Given the description of an element on the screen output the (x, y) to click on. 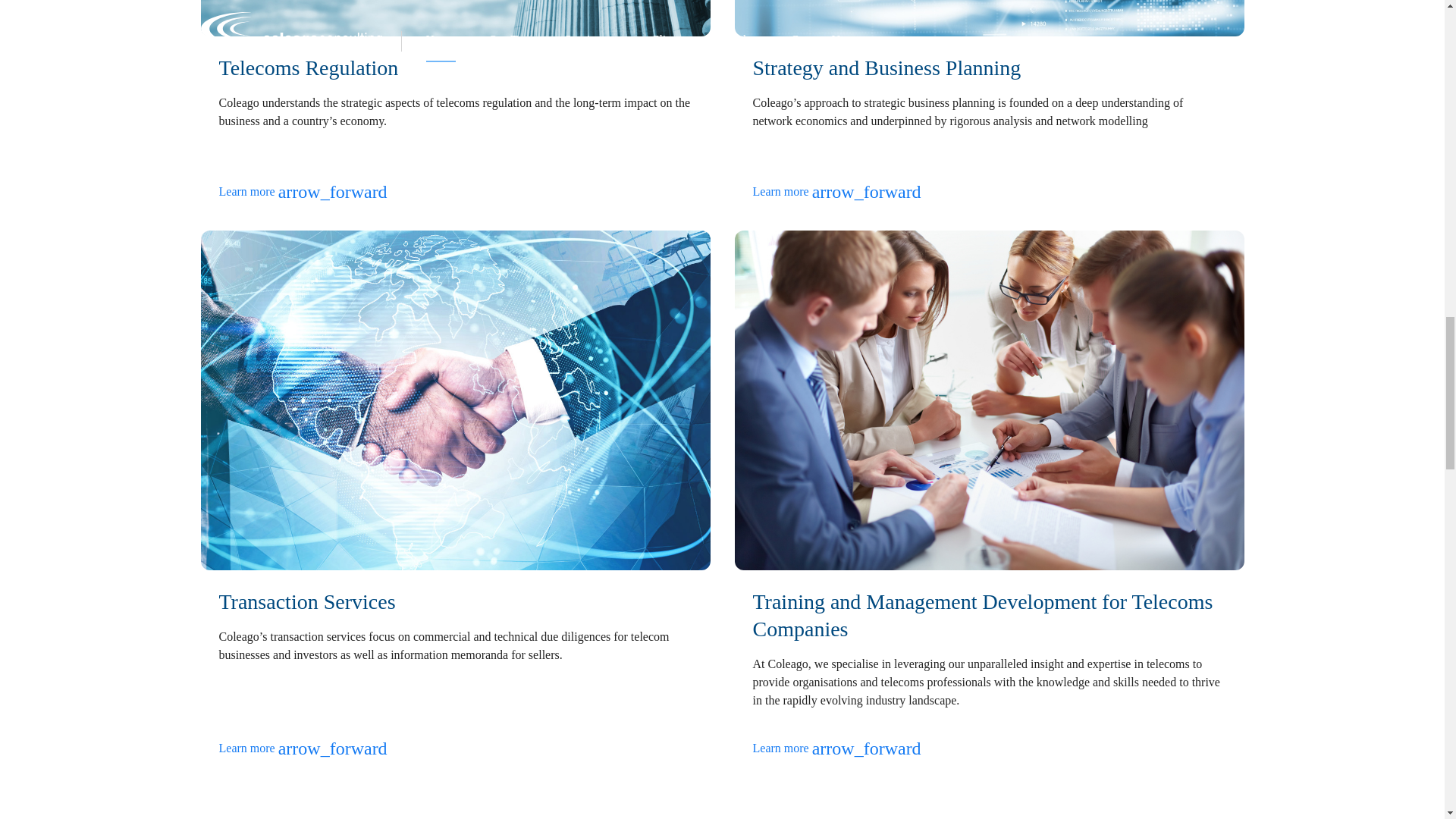
Telecoms Regulation (307, 67)
Transaction Services (306, 601)
Training and Management Development for Telecoms Companies (982, 614)
Strategy and Business Planning (886, 67)
